Given the description of an element on the screen output the (x, y) to click on. 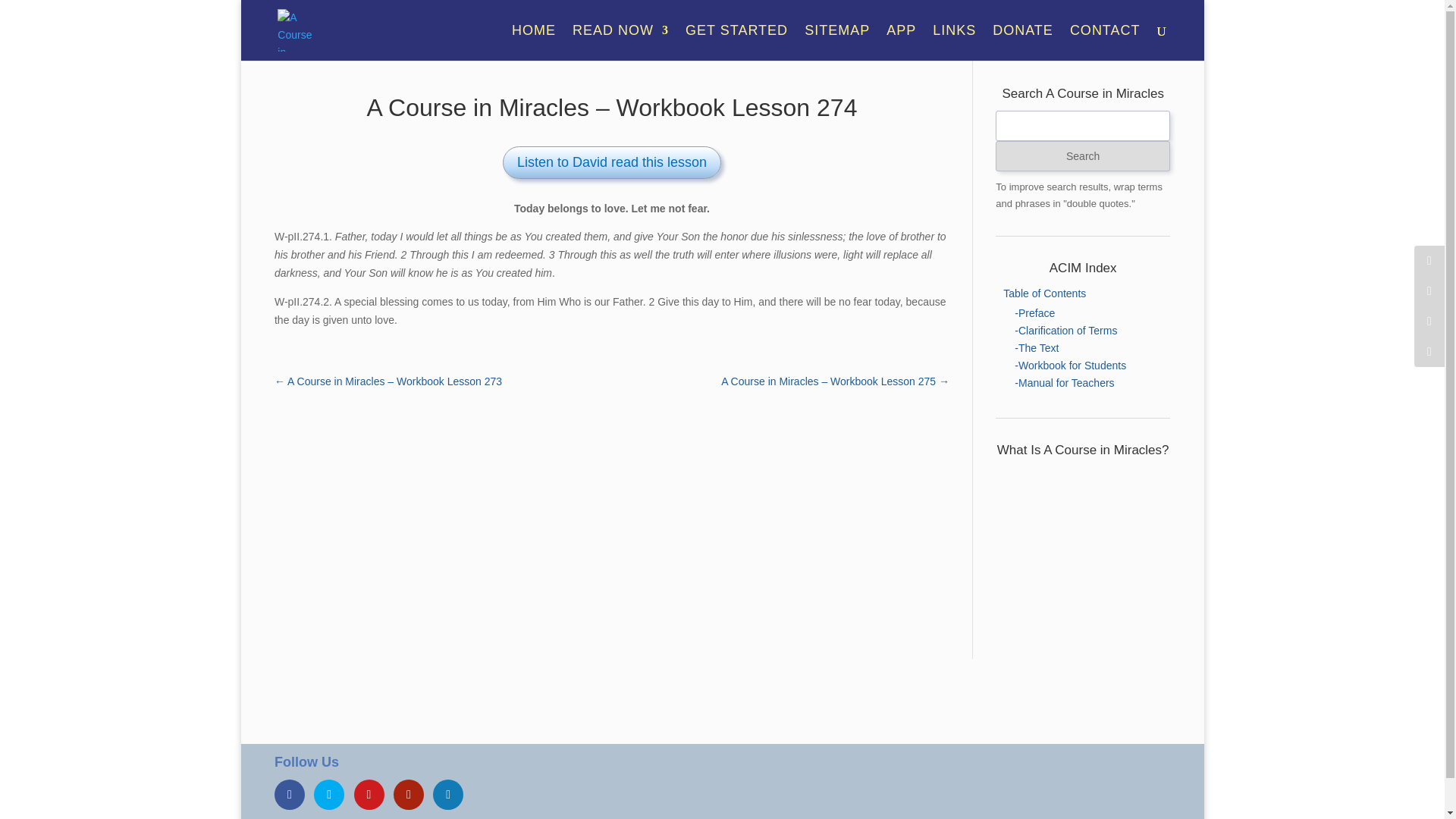
Search (1082, 155)
-Preface (1034, 313)
SITEMAP (837, 42)
GET STARTED (736, 42)
Table of Contents (1044, 293)
LINKS (954, 42)
-The Text (1036, 347)
-Manual for Teachers (1063, 382)
YouTube video player (1082, 515)
CONTACT (1104, 42)
